Given the description of an element on the screen output the (x, y) to click on. 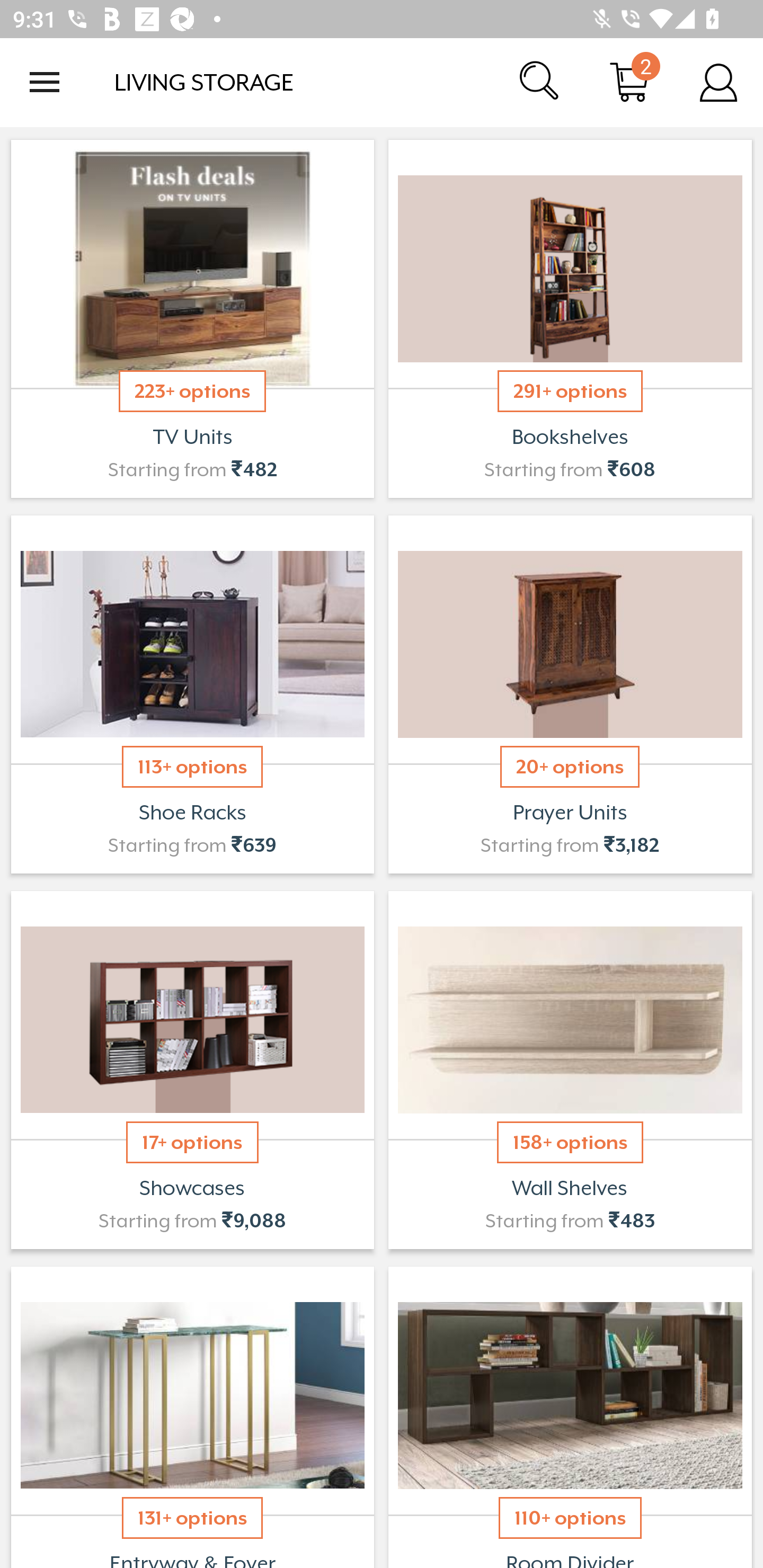
Open navigation drawer (44, 82)
Search (540, 81)
Cart (629, 81)
Account Details (718, 81)
223+ options TV Units Starting from  ₹482 (191, 318)
291+ options Bookshelves Starting from  ₹608 (570, 318)
113+ options Shoe Racks Starting from  ₹639 (191, 694)
20+ options Prayer Units Starting from  ₹3,182 (570, 694)
17+ options Showcases Starting from  ₹9,088 (191, 1069)
158+ options Wall Shelves Starting from  ₹483 (570, 1069)
131+ options Entryway & Foyer (191, 1415)
110+ options Room Divider (570, 1415)
